Given the description of an element on the screen output the (x, y) to click on. 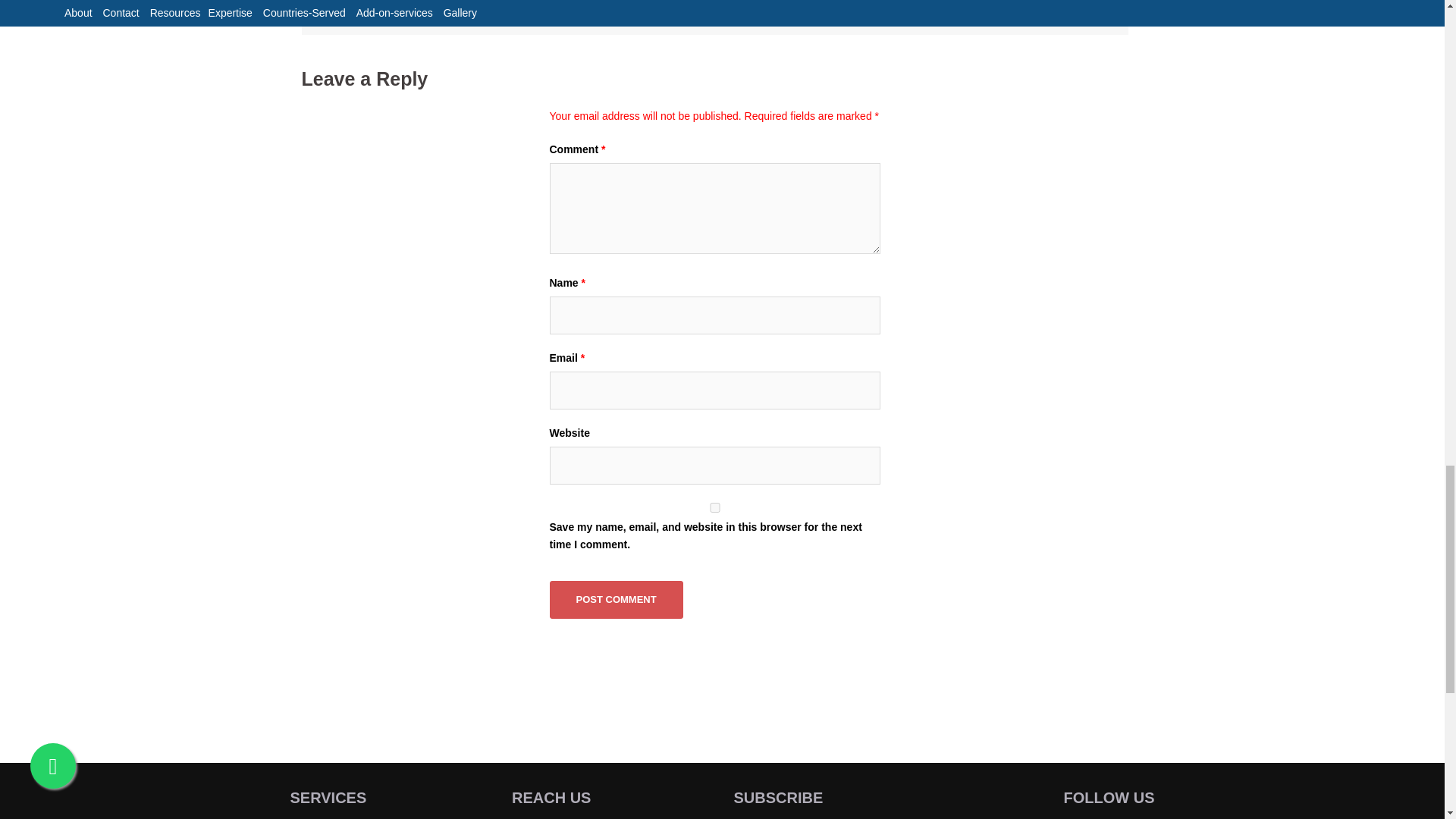
Post Comment (615, 599)
yes (713, 507)
Post Comment (615, 599)
University of Canterbury (1024, 4)
